Given the description of an element on the screen output the (x, y) to click on. 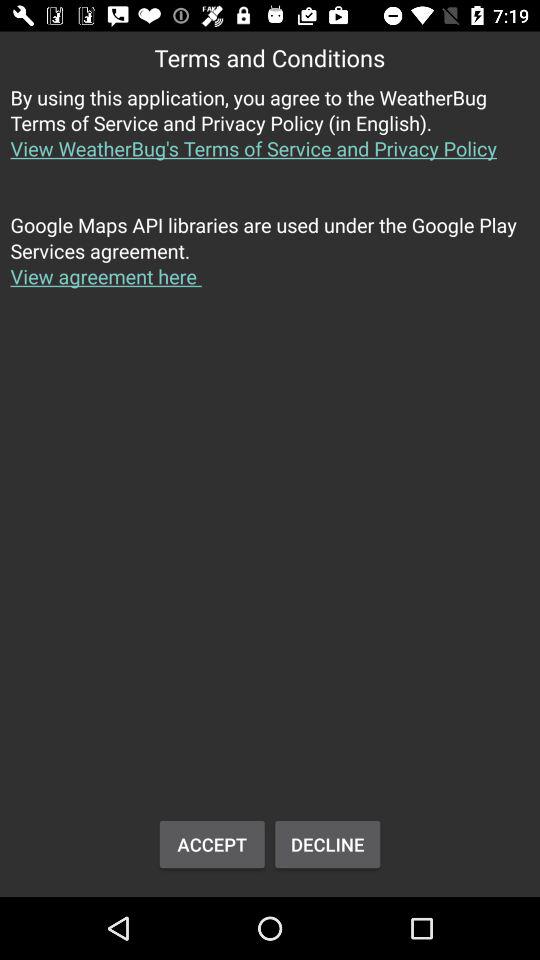
flip until the decline icon (327, 844)
